Given the description of an element on the screen output the (x, y) to click on. 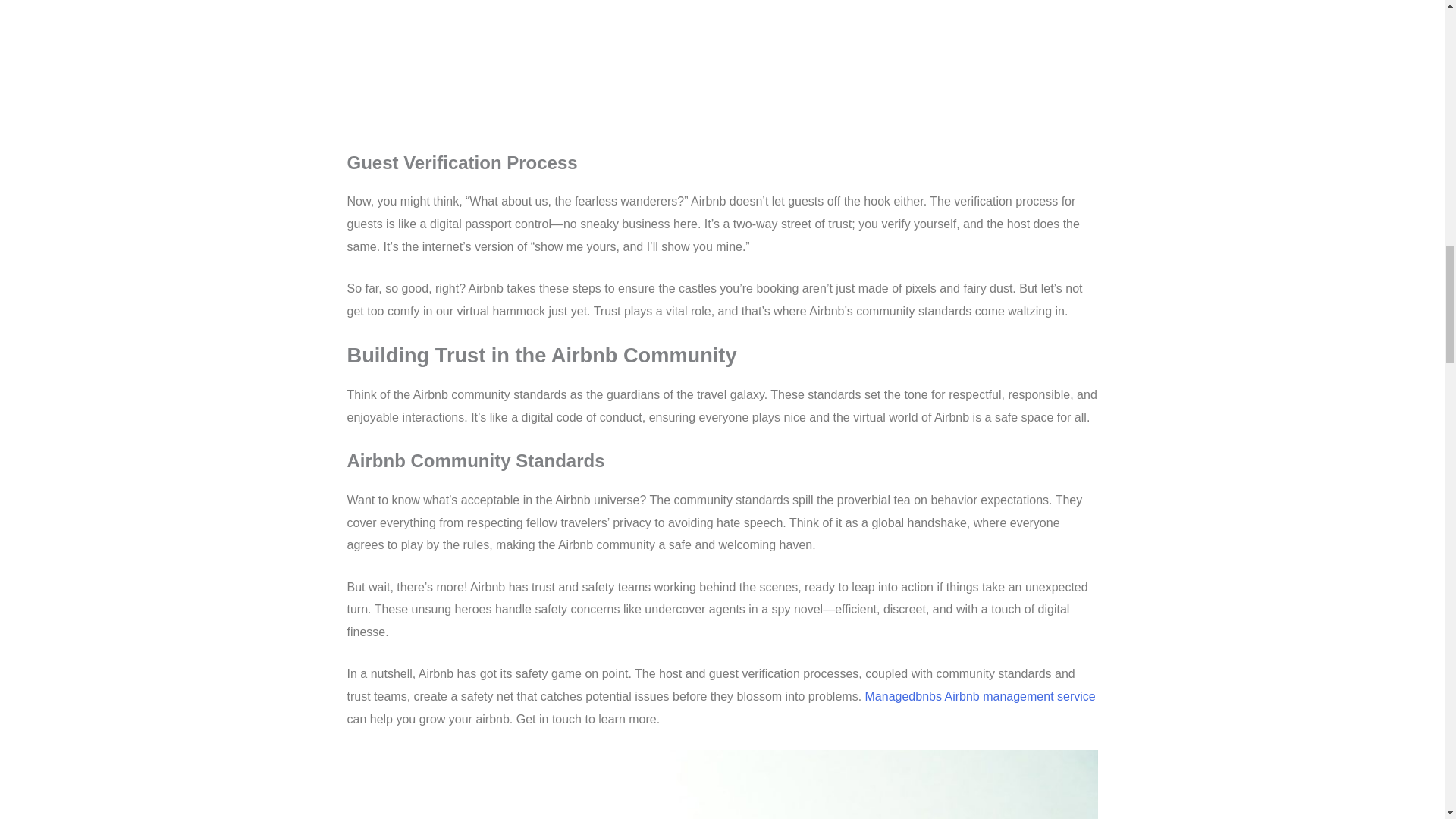
Managedbnbs Airbnb management service (980, 696)
